Given the description of an element on the screen output the (x, y) to click on. 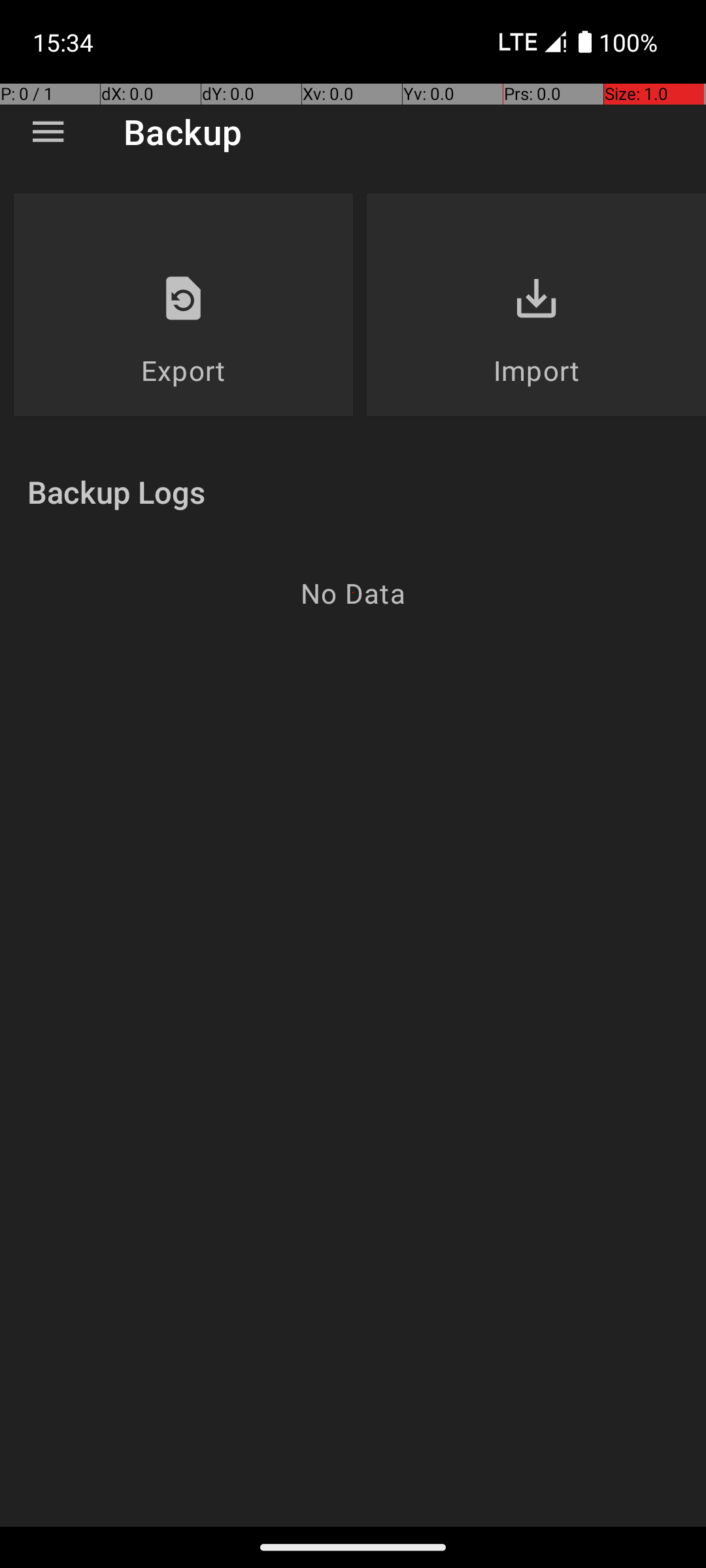
Backup Element type: android.widget.TextView (182, 131)
Backup Logs Element type: android.widget.TextView (116, 491)
No Data Element type: android.widget.TextView (352, 592)
Export Element type: android.widget.TextView (182, 369)
Import Element type: android.widget.TextView (535, 369)
